Given the description of an element on the screen output the (x, y) to click on. 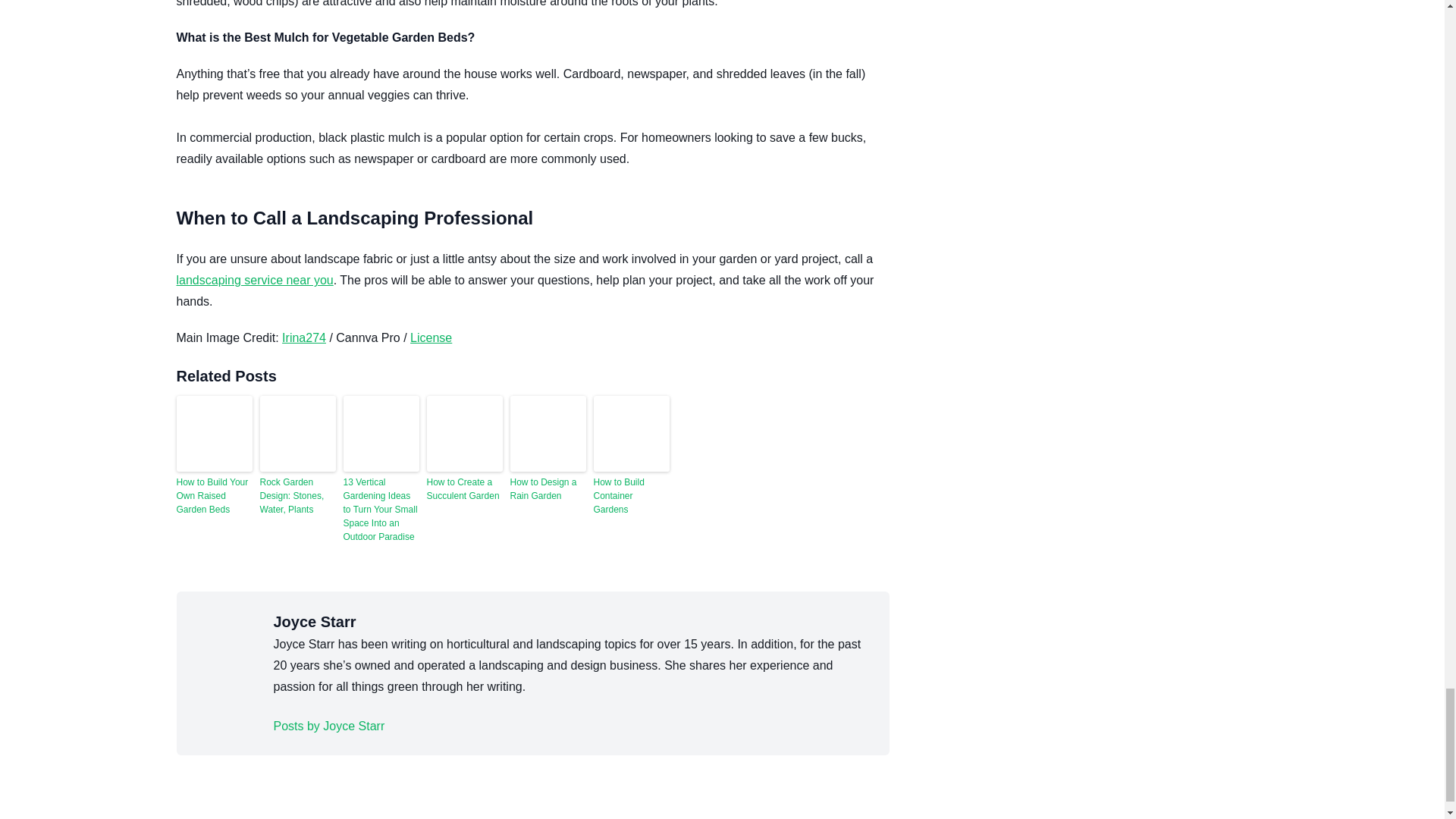
Joyce Starr (328, 726)
